Given the description of an element on the screen output the (x, y) to click on. 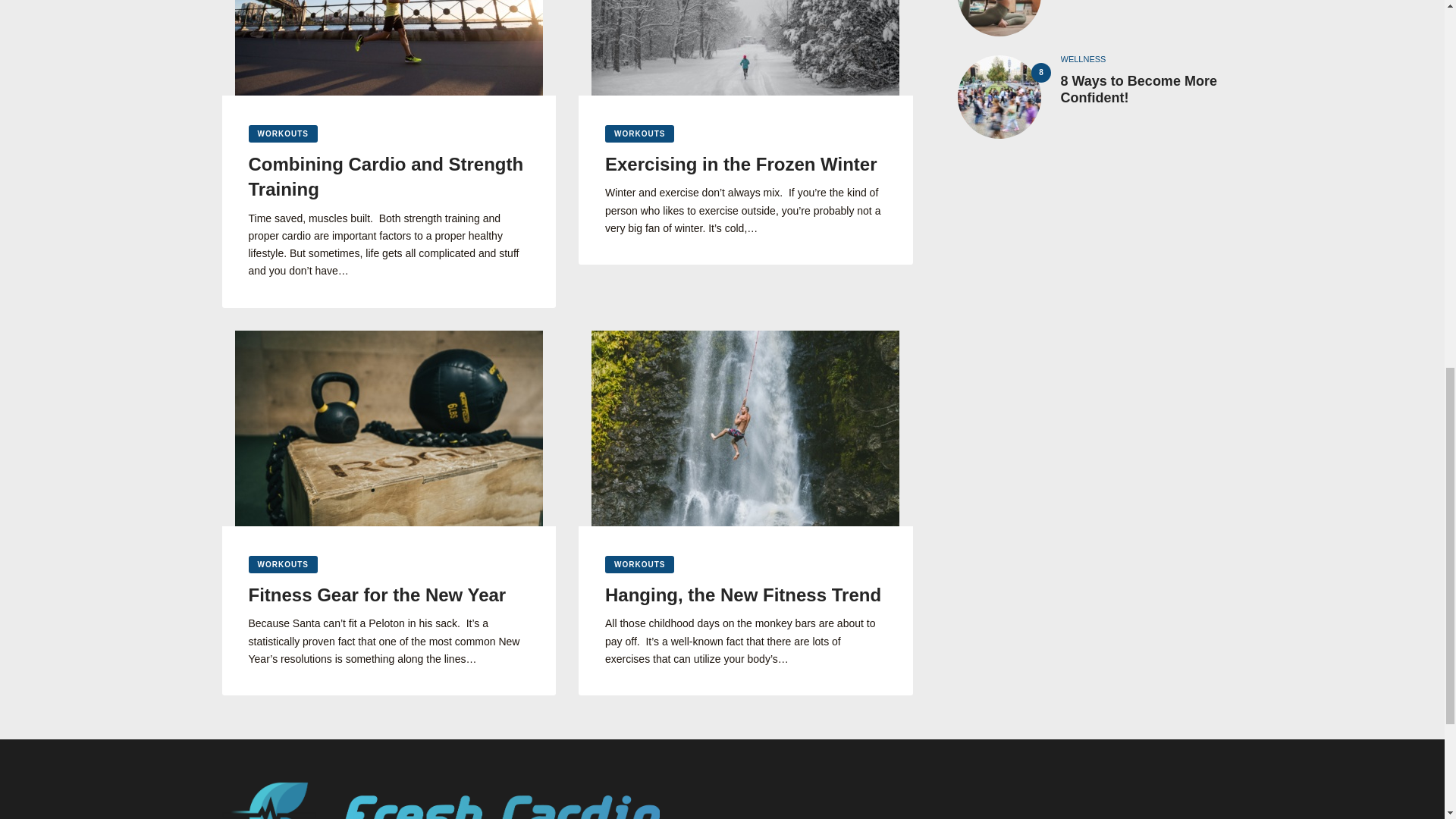
Hanging, the New Fitness Trend (745, 594)
WORKOUTS (639, 133)
WORKOUTS (639, 564)
Exercising in the Frozen Winter (745, 163)
Fitness Gear for the New Year (388, 594)
WORKOUTS (282, 564)
View all posts in Wellness (1082, 58)
WORKOUTS (282, 133)
Combining Cardio and Strength Training (388, 176)
